Given the description of an element on the screen output the (x, y) to click on. 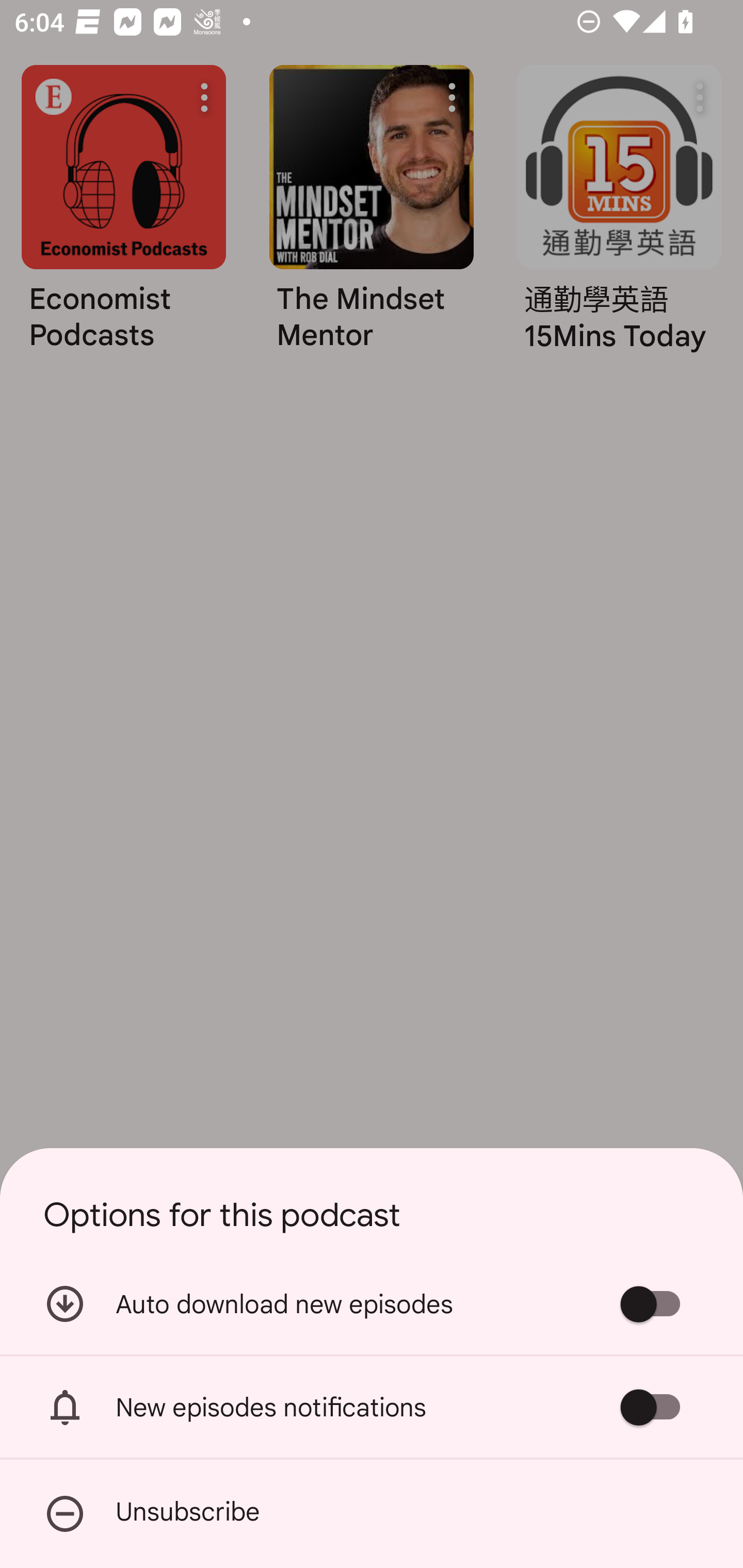
Auto download new episodes (371, 1303)
New episodes notifications (371, 1407)
Unsubscribe (371, 1513)
